Given the description of an element on the screen output the (x, y) to click on. 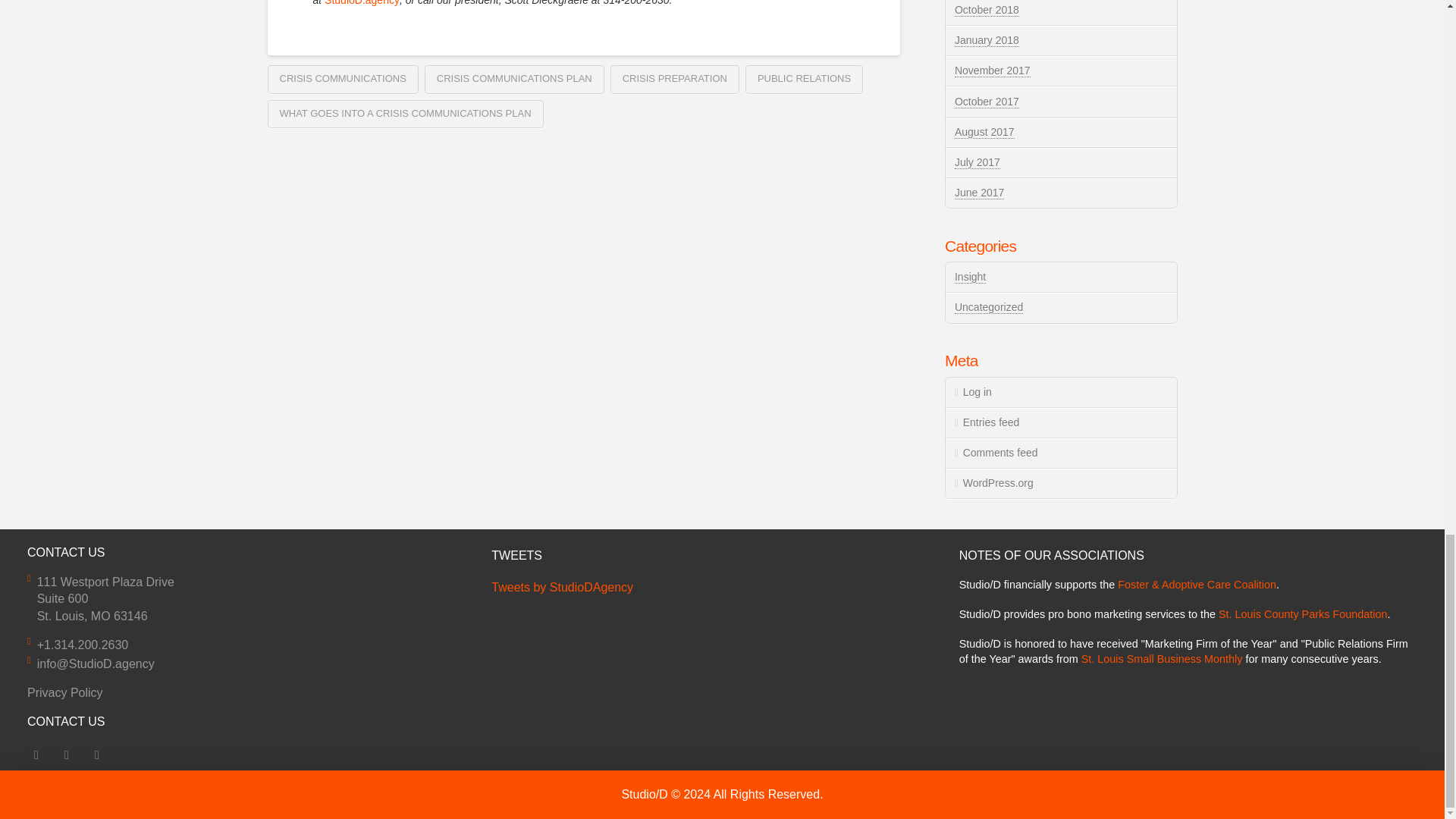
CRISIS COMMUNICATIONS PLAN (514, 79)
PUBLIC RELATIONS (804, 79)
CRISIS PREPARATION (674, 79)
StudioD.agency (361, 2)
WHAT GOES INTO A CRISIS COMMUNICATIONS PLAN (404, 113)
CRISIS COMMUNICATIONS (341, 79)
